Given the description of an element on the screen output the (x, y) to click on. 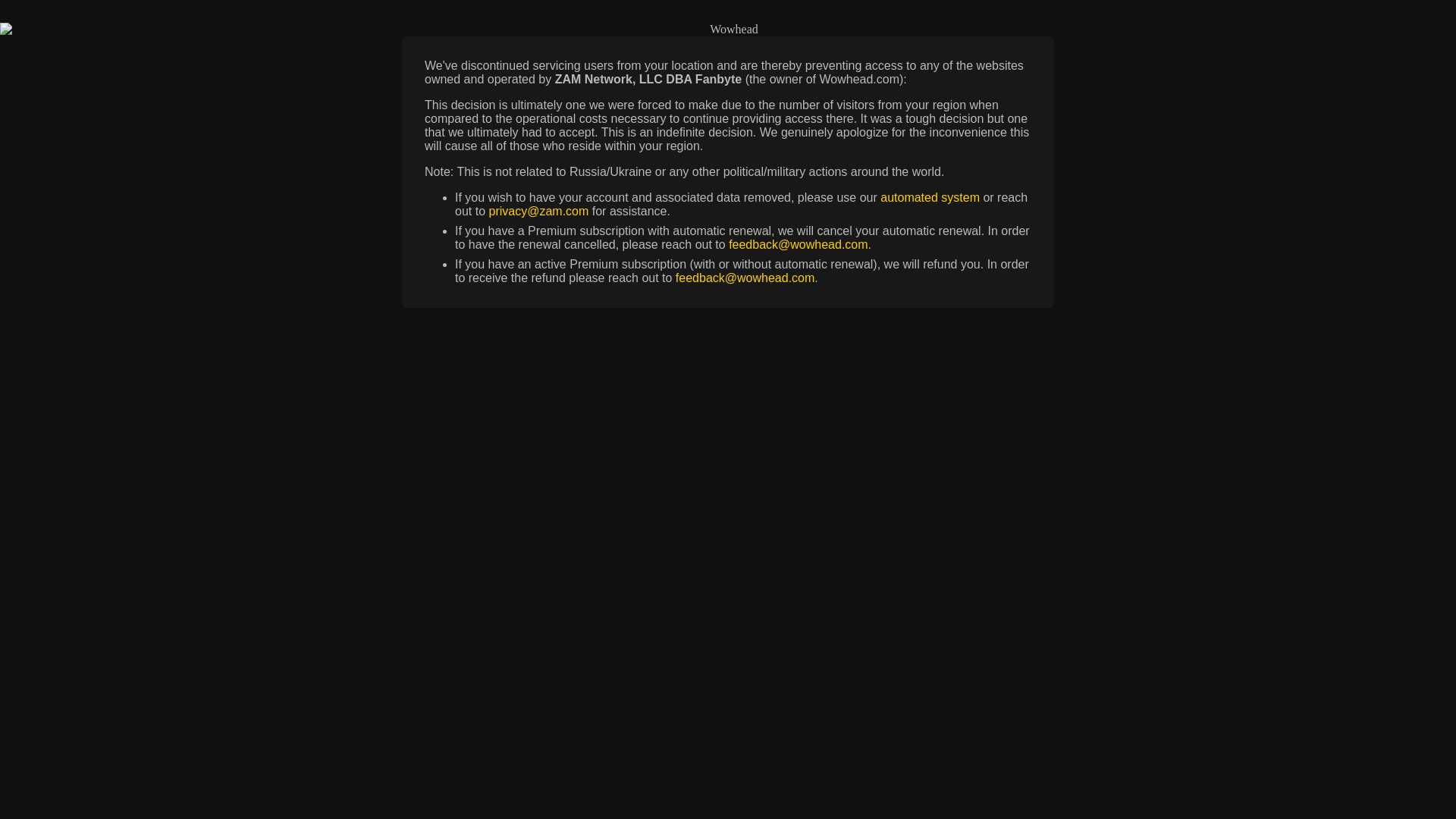
automated system (929, 196)
